Given the description of an element on the screen output the (x, y) to click on. 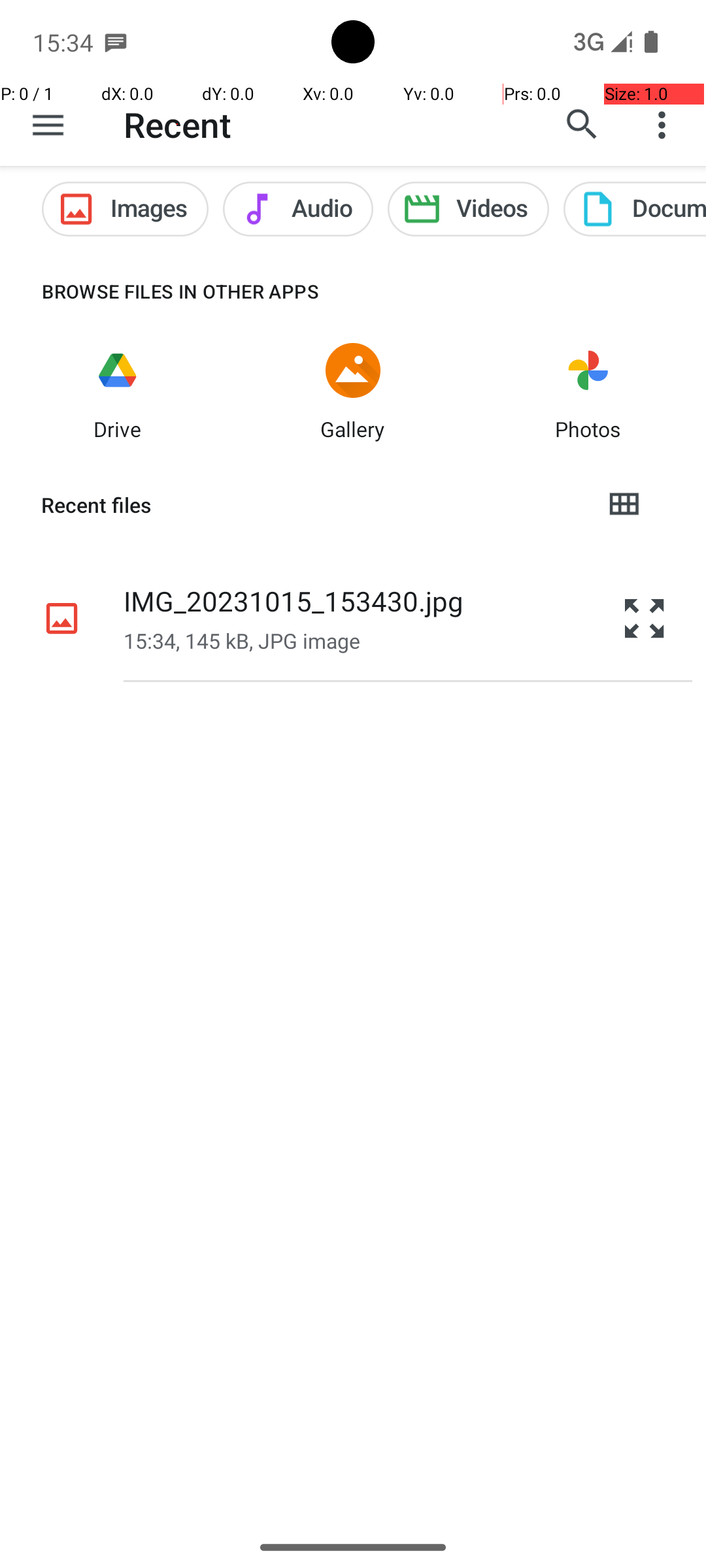
BROWSE FILES IN OTHER APPS Element type: android.widget.TextView (159, 291)
Recent files Element type: android.widget.TextView (311, 504)
IMG_20231015_153430.jpg Element type: android.widget.TextView (293, 600)
15:34, 145 kB, JPG image Element type: android.widget.TextView (241, 640)
Preview the file IMG_20231015_153430.jpg Element type: android.widget.FrameLayout (644, 618)
